Given the description of an element on the screen output the (x, y) to click on. 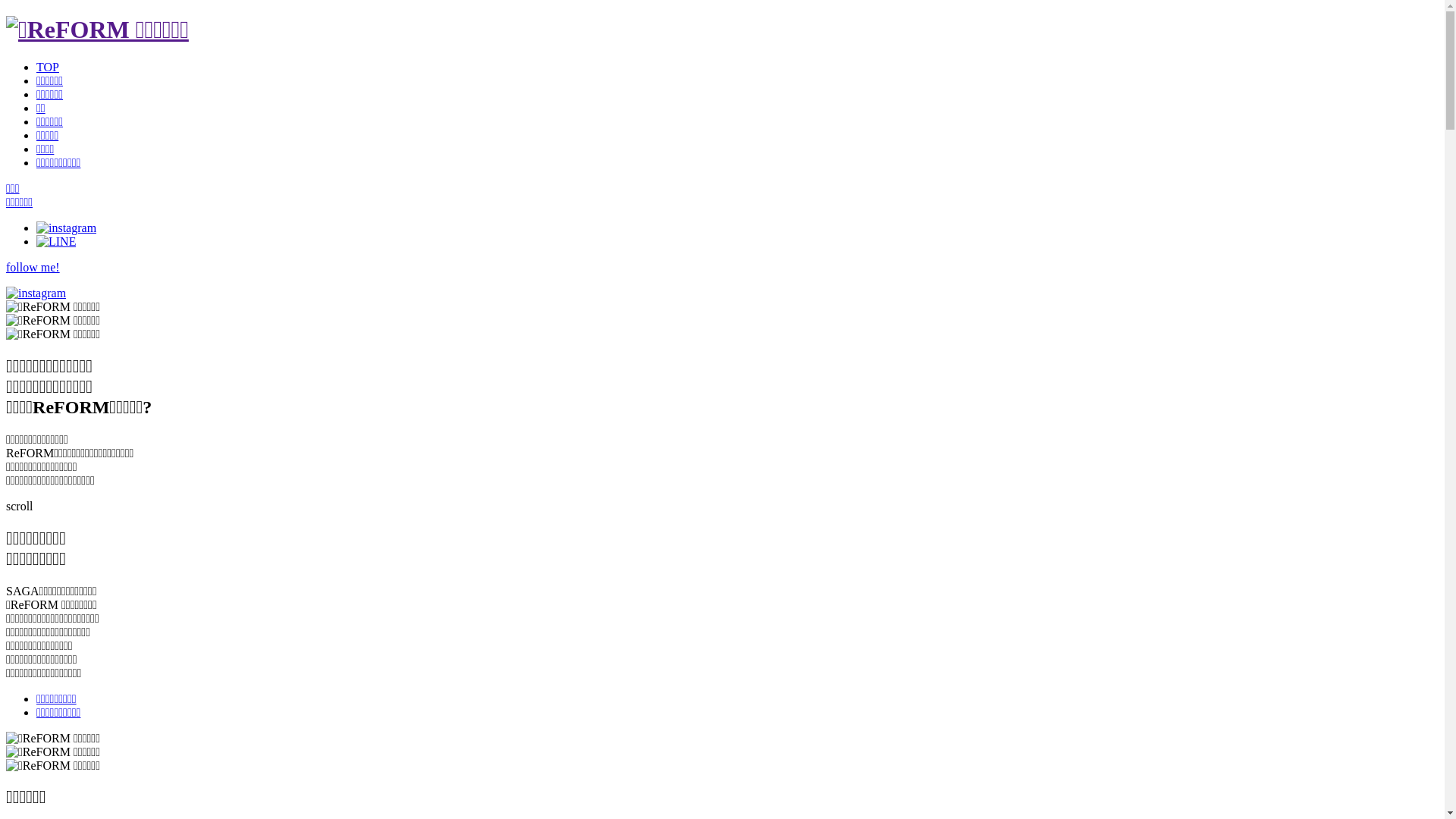
follow me! Element type: text (722, 280)
TOP Element type: text (47, 66)
